Given the description of an element on the screen output the (x, y) to click on. 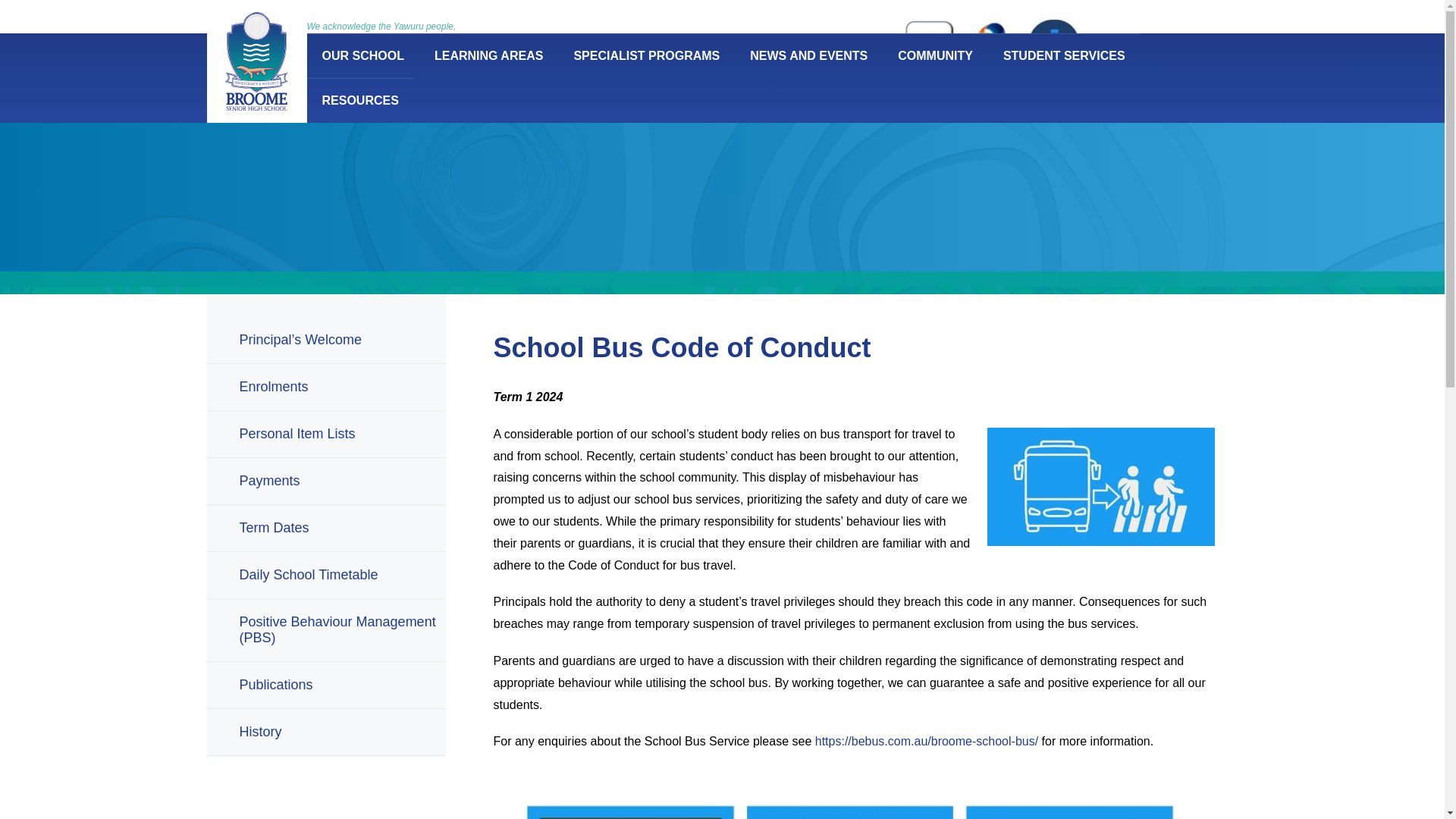
SPECIALIST PROGRAMS (646, 55)
NEWS AND EVENTS (808, 55)
LEARNING AREAS (488, 55)
Compass Login (1050, 64)
Connect Notifications (987, 62)
Enrolments (568, 45)
Subject Selections Online (926, 62)
Contact Us (711, 45)
OUR SCHOOL (362, 55)
